Given the description of an element on the screen output the (x, y) to click on. 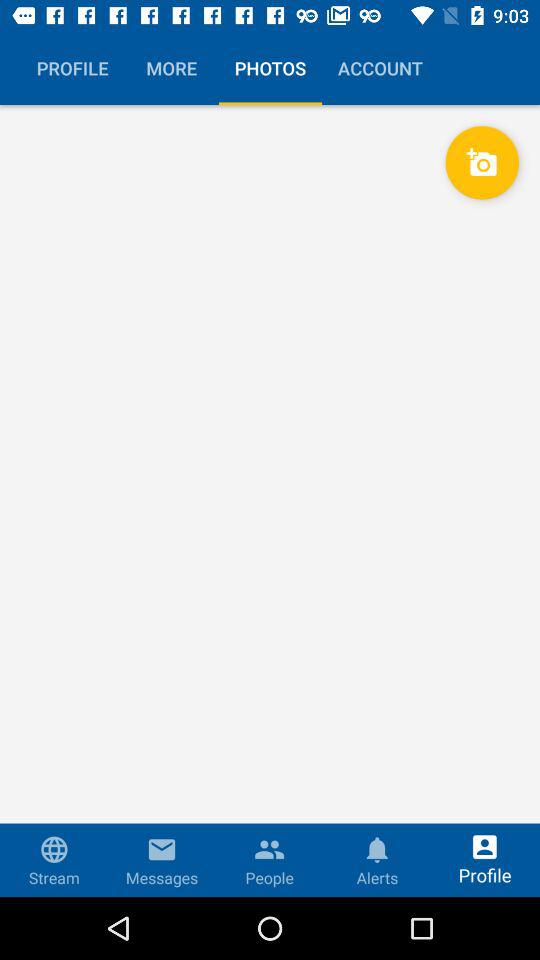
open the icon at the center (270, 500)
